Given the description of an element on the screen output the (x, y) to click on. 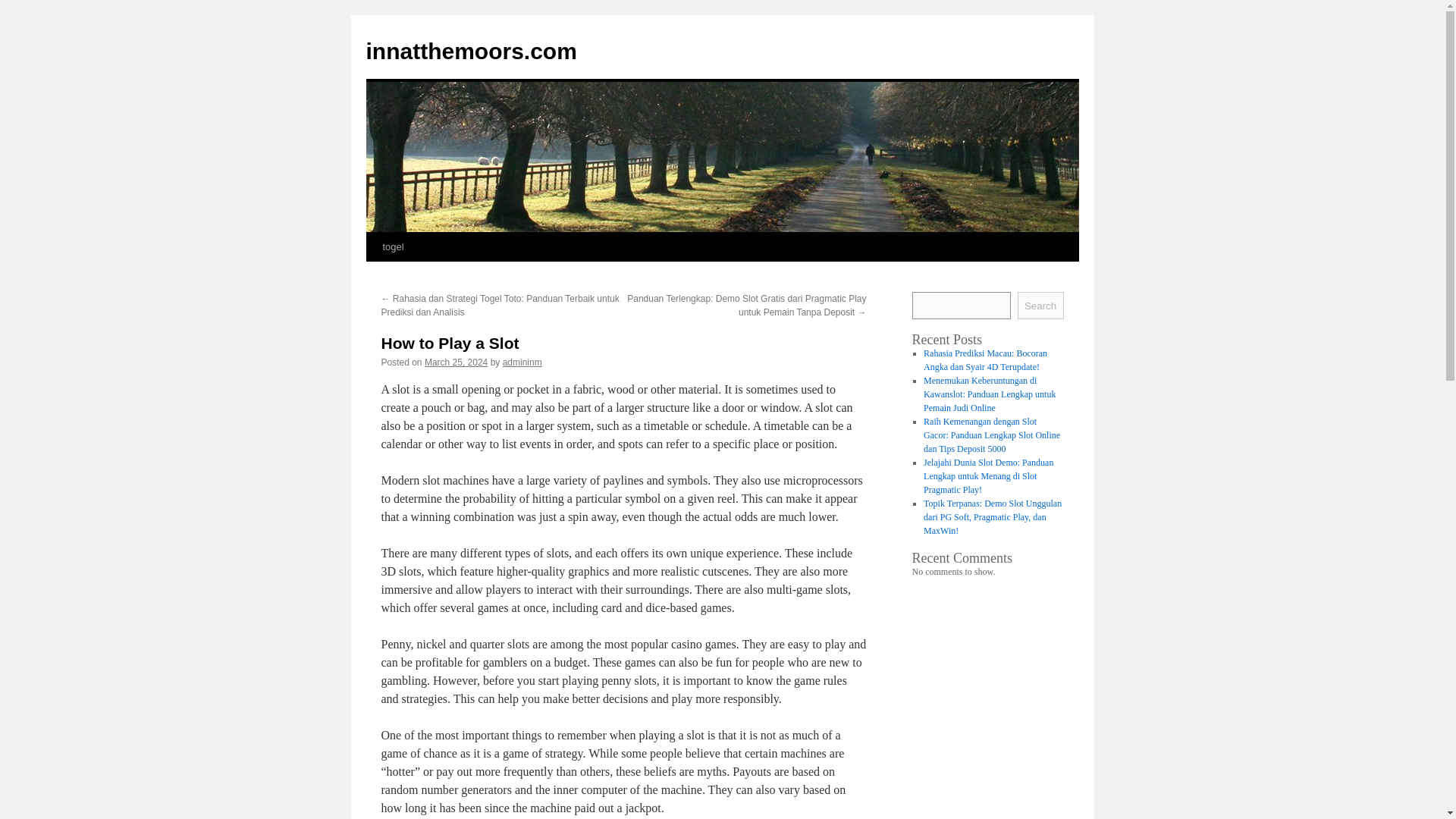
innatthemoors.com (470, 50)
Search (1040, 305)
admininm (521, 362)
togel (392, 246)
View all posts by admininm (521, 362)
March 25, 2024 (456, 362)
